Given the description of an element on the screen output the (x, y) to click on. 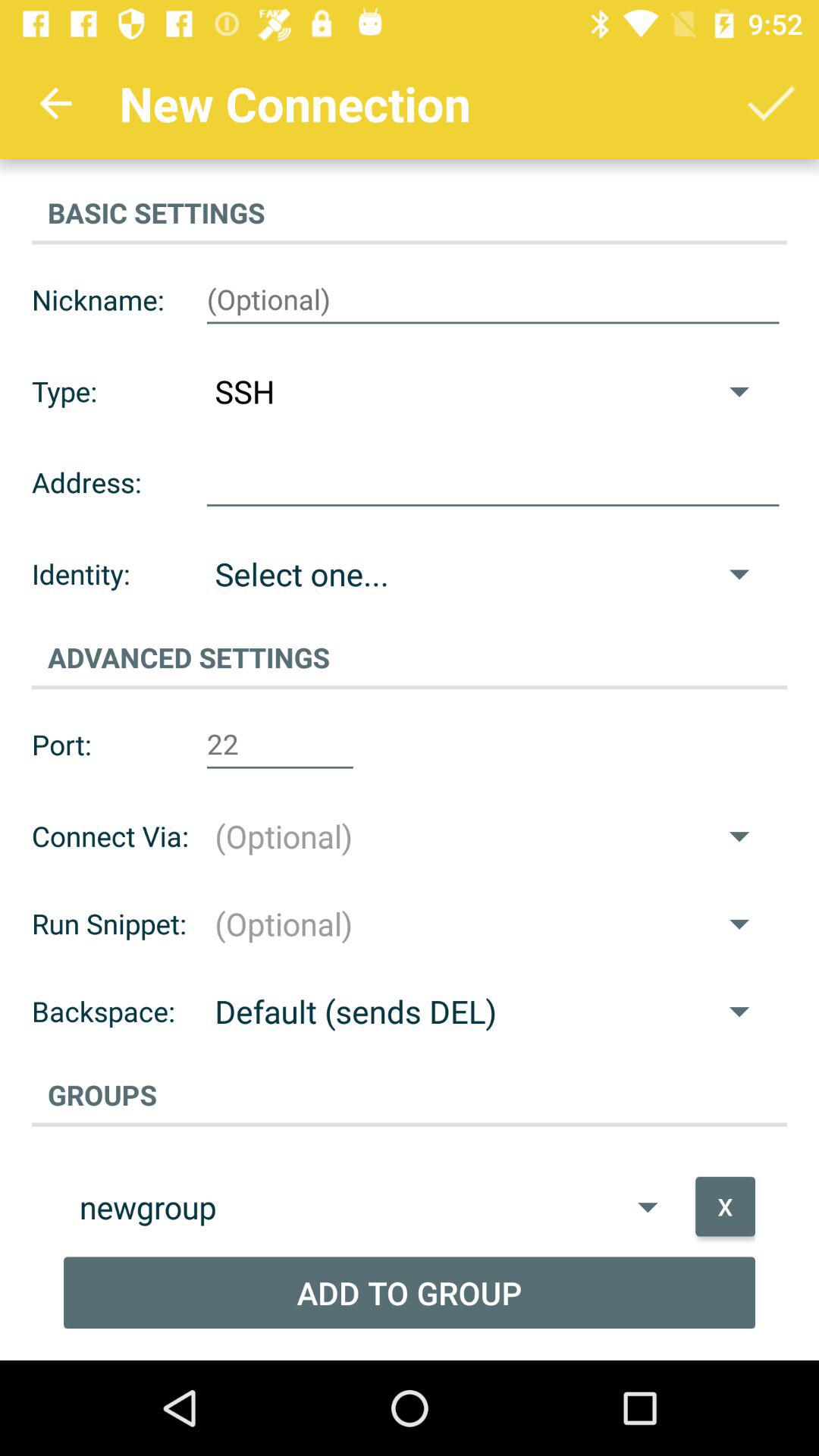
insert address (493, 482)
